Given the description of an element on the screen output the (x, y) to click on. 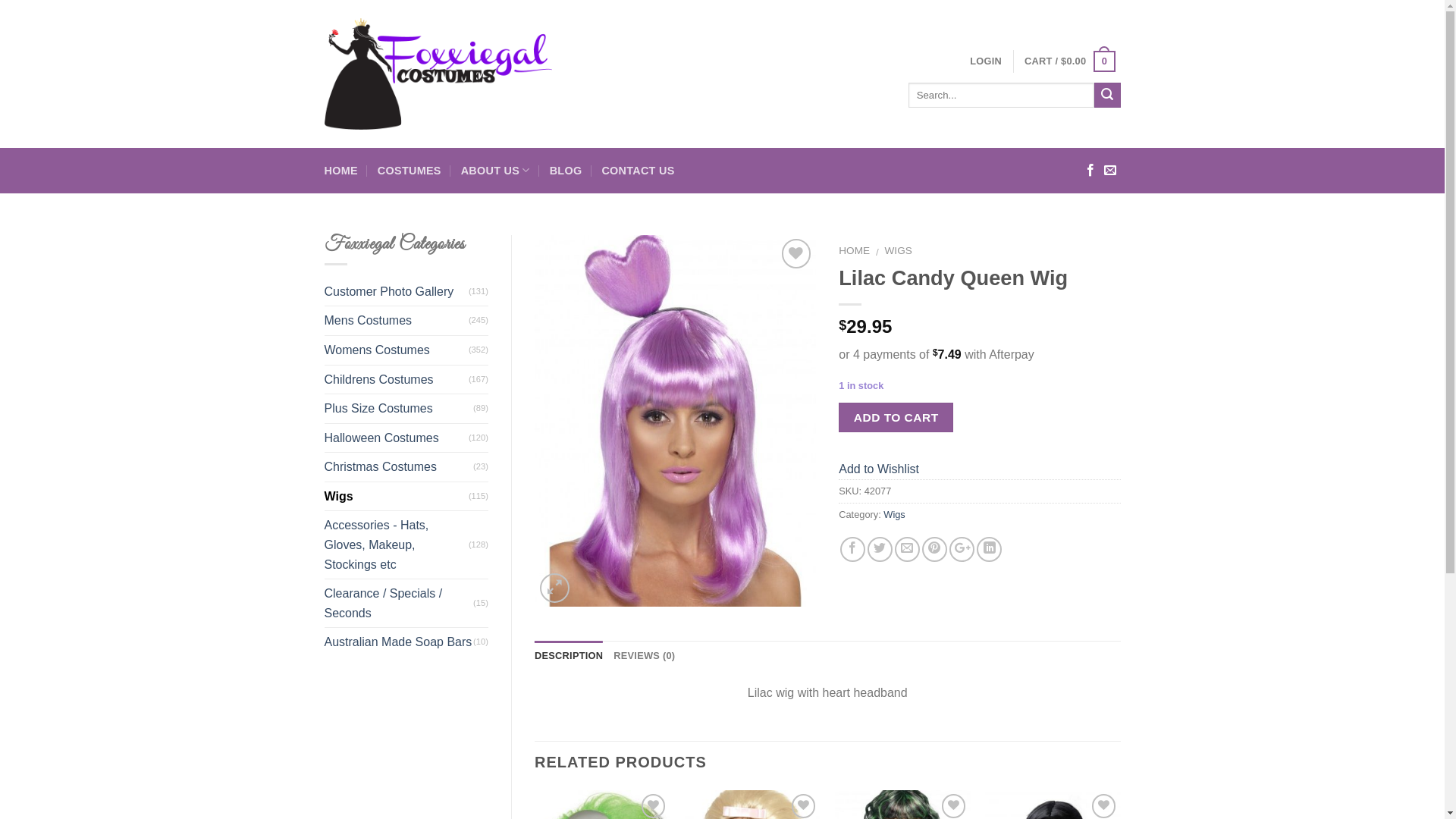
BLOG Element type: text (565, 170)
Skip to content Element type: text (0, 0)
Mens Costumes Element type: text (396, 320)
Add to Wishlist Element type: text (878, 468)
HOME Element type: text (340, 170)
Australian Made Soap Bars Element type: text (398, 641)
Halloween Costumes Element type: text (396, 437)
Accessories - Hats, Gloves, Makeup, Stockings etc Element type: text (396, 544)
WIGS Element type: text (898, 250)
Christmas Costumes Element type: text (398, 466)
COSTUMES Element type: text (409, 170)
Childrens Costumes Element type: text (396, 379)
REVIEWS (0) Element type: text (643, 655)
HOME Element type: text (853, 250)
Womens Costumes Element type: text (396, 349)
Wigs Element type: text (893, 514)
Wigs Element type: text (396, 496)
Clearance / Specials / Seconds Element type: text (398, 603)
CONTACT US Element type: text (637, 170)
ABOUT US Element type: text (495, 170)
Plus Size Costumes Element type: text (398, 408)
42077_0 Element type: hover (674, 420)
ADD TO CART Element type: text (895, 417)
Customer Photo Gallery Element type: text (396, 291)
DESCRIPTION Element type: text (568, 655)
CART / $0.00
0 Element type: text (1069, 61)
LOGIN Element type: text (985, 61)
